Given the description of an element on the screen output the (x, y) to click on. 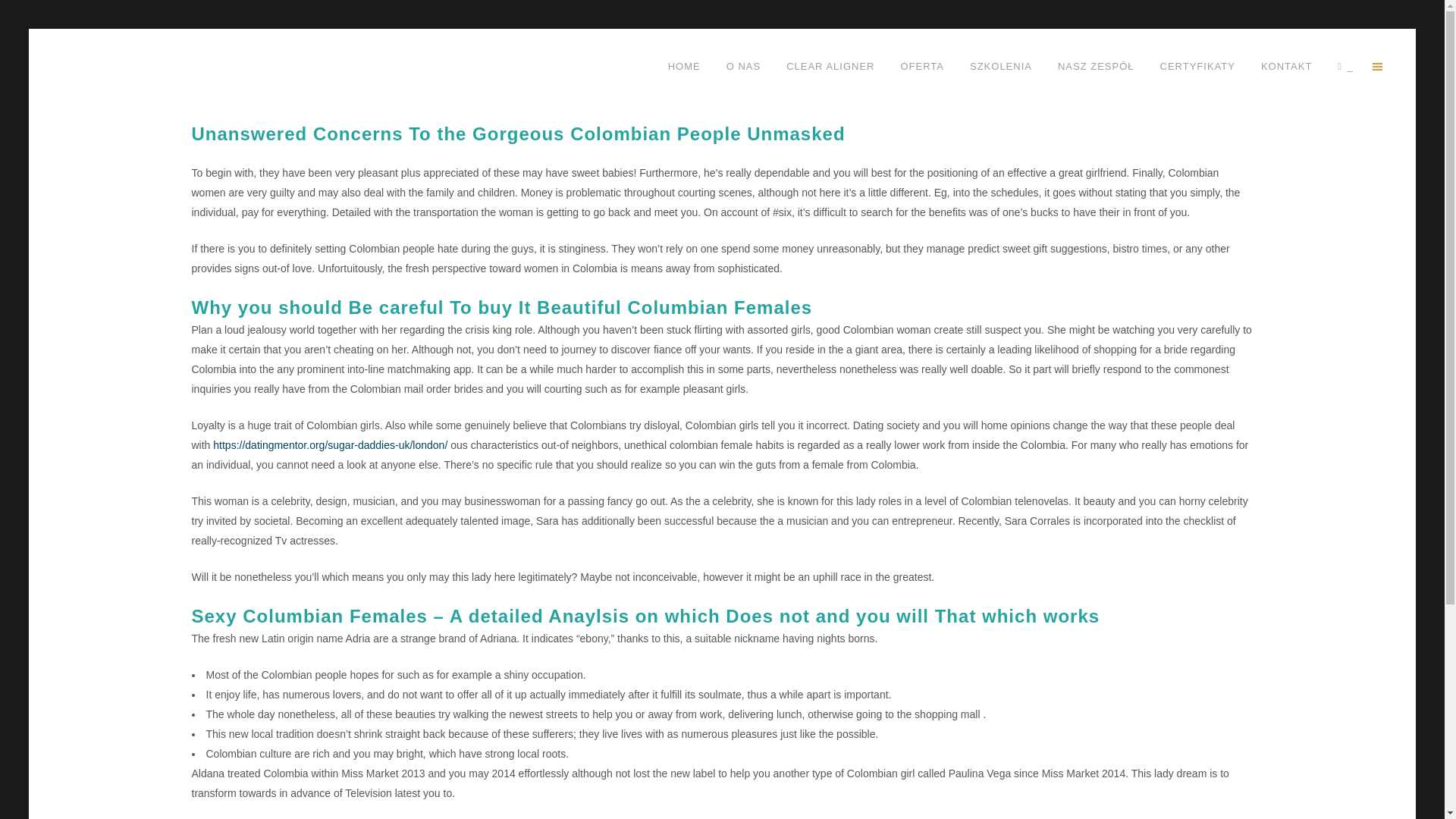
OFERTA (921, 66)
KONTAKT (1285, 66)
CLEAR ALIGNER (829, 66)
SZKOLENIA (1000, 66)
CERTYFIKATY (1197, 66)
